Given the description of an element on the screen output the (x, y) to click on. 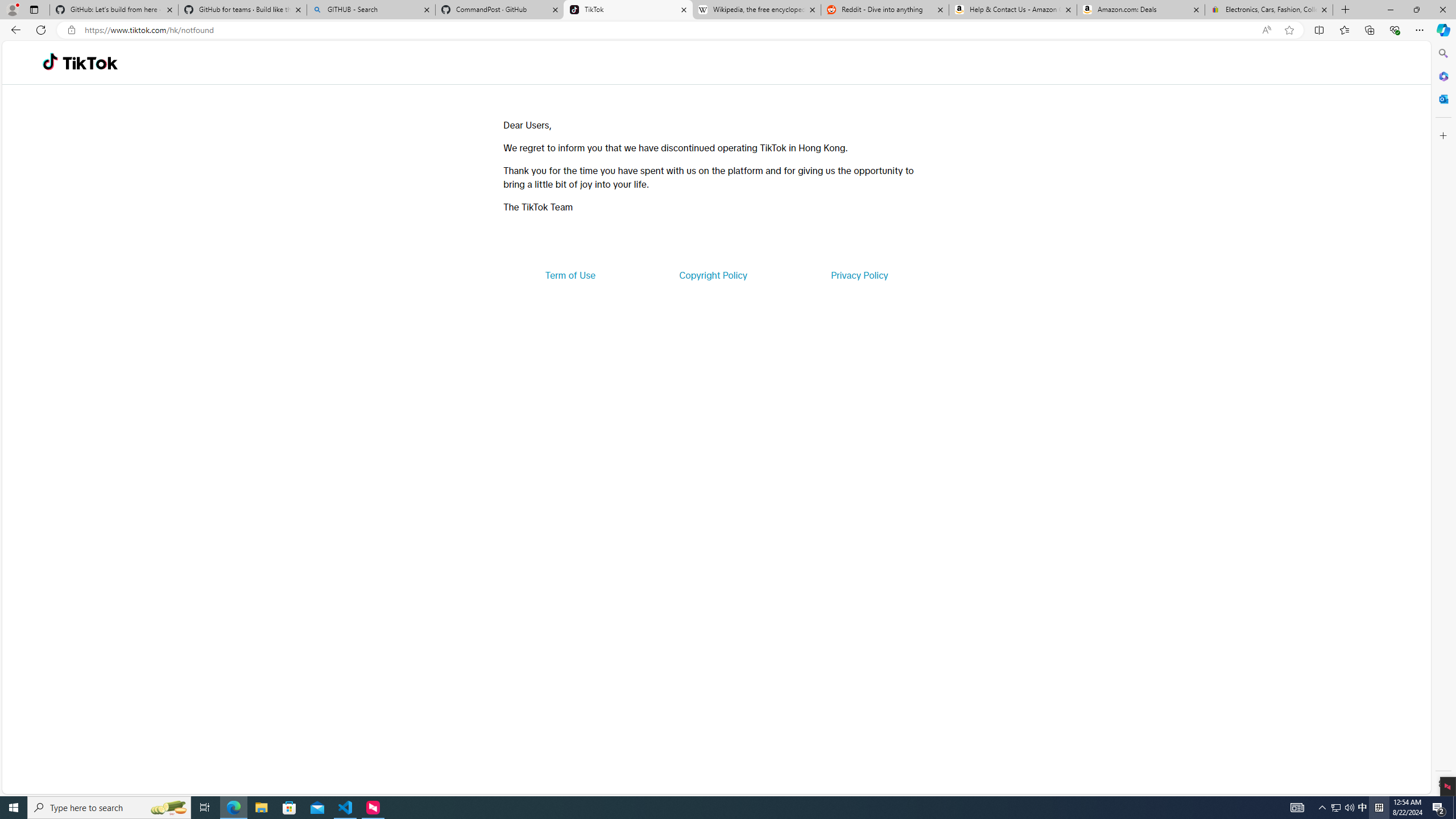
TikTok (628, 9)
Amazon.com: Deals (1140, 9)
